Given the description of an element on the screen output the (x, y) to click on. 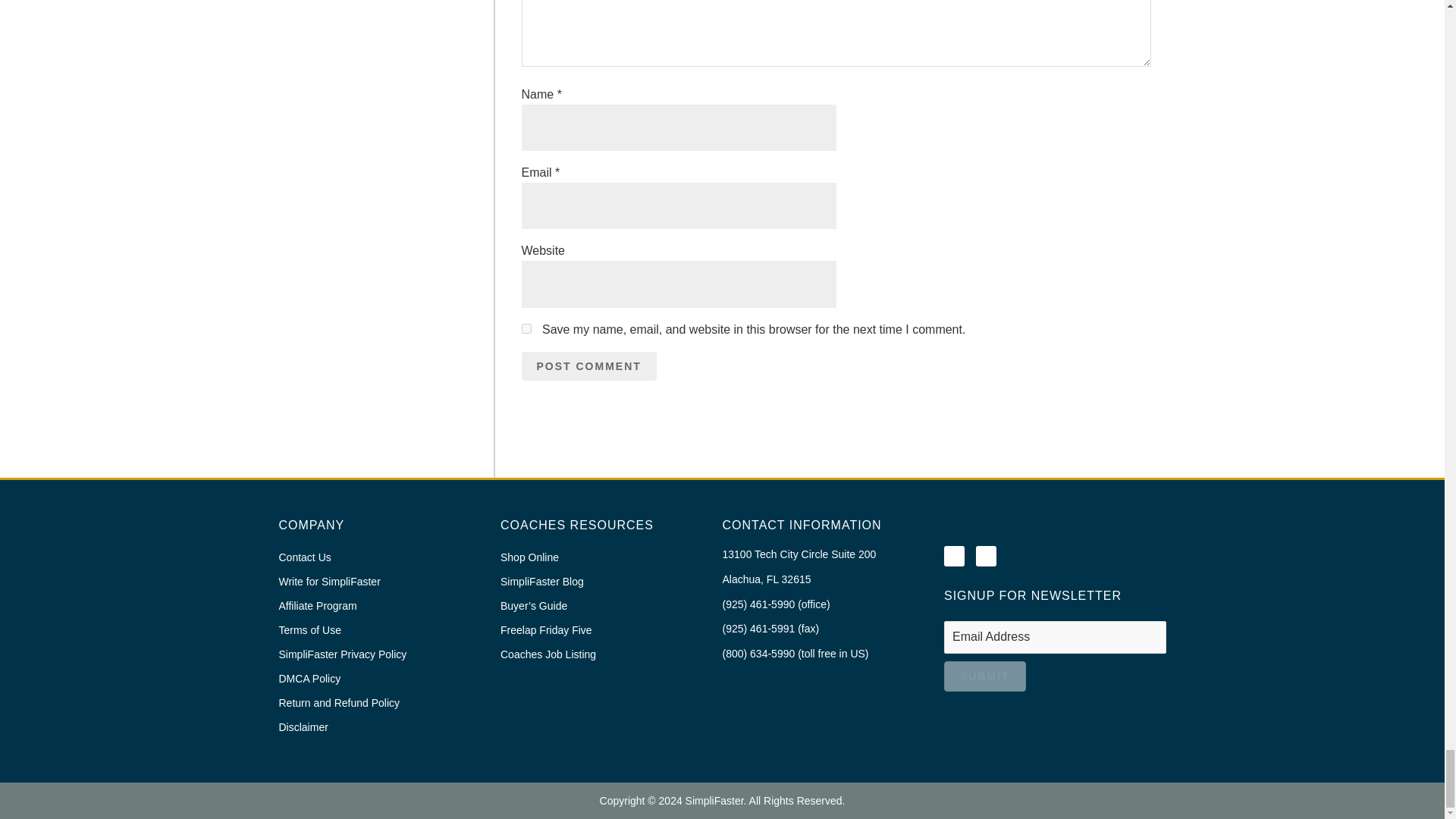
yes (526, 328)
Post Comment (588, 366)
